Given the description of an element on the screen output the (x, y) to click on. 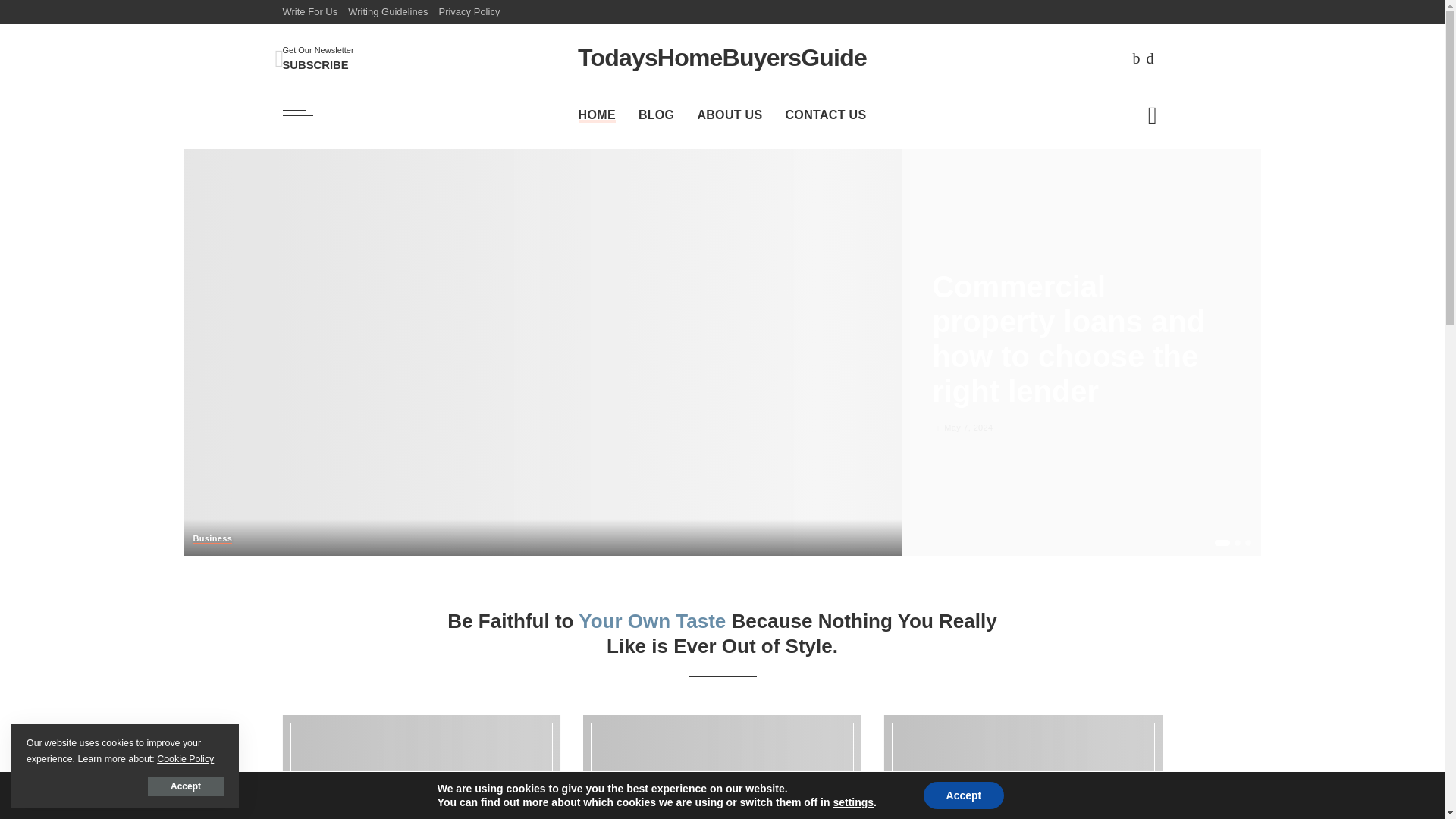
HOME (597, 115)
ABOUT US (729, 115)
BLOG (656, 115)
Privacy Policy (317, 58)
Write For Us (468, 11)
Search (312, 11)
TodaysHomeBuyersGuide (1140, 169)
Writing Guidelines (722, 57)
Search (387, 11)
